Given the description of an element on the screen output the (x, y) to click on. 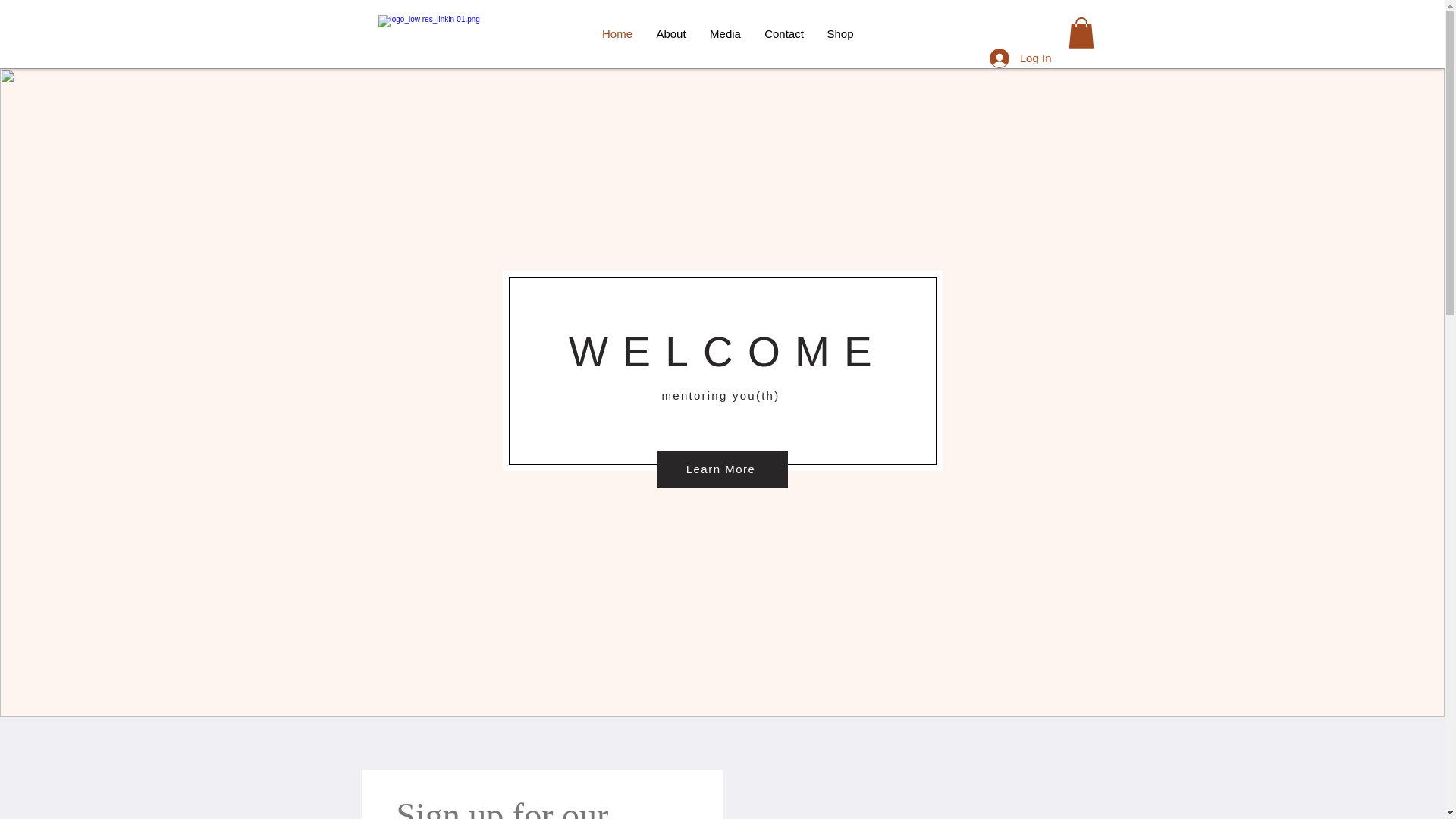
Shop (839, 34)
Learn More (721, 469)
Contact (783, 34)
Home (616, 34)
Log In (1020, 58)
